Given the description of an element on the screen output the (x, y) to click on. 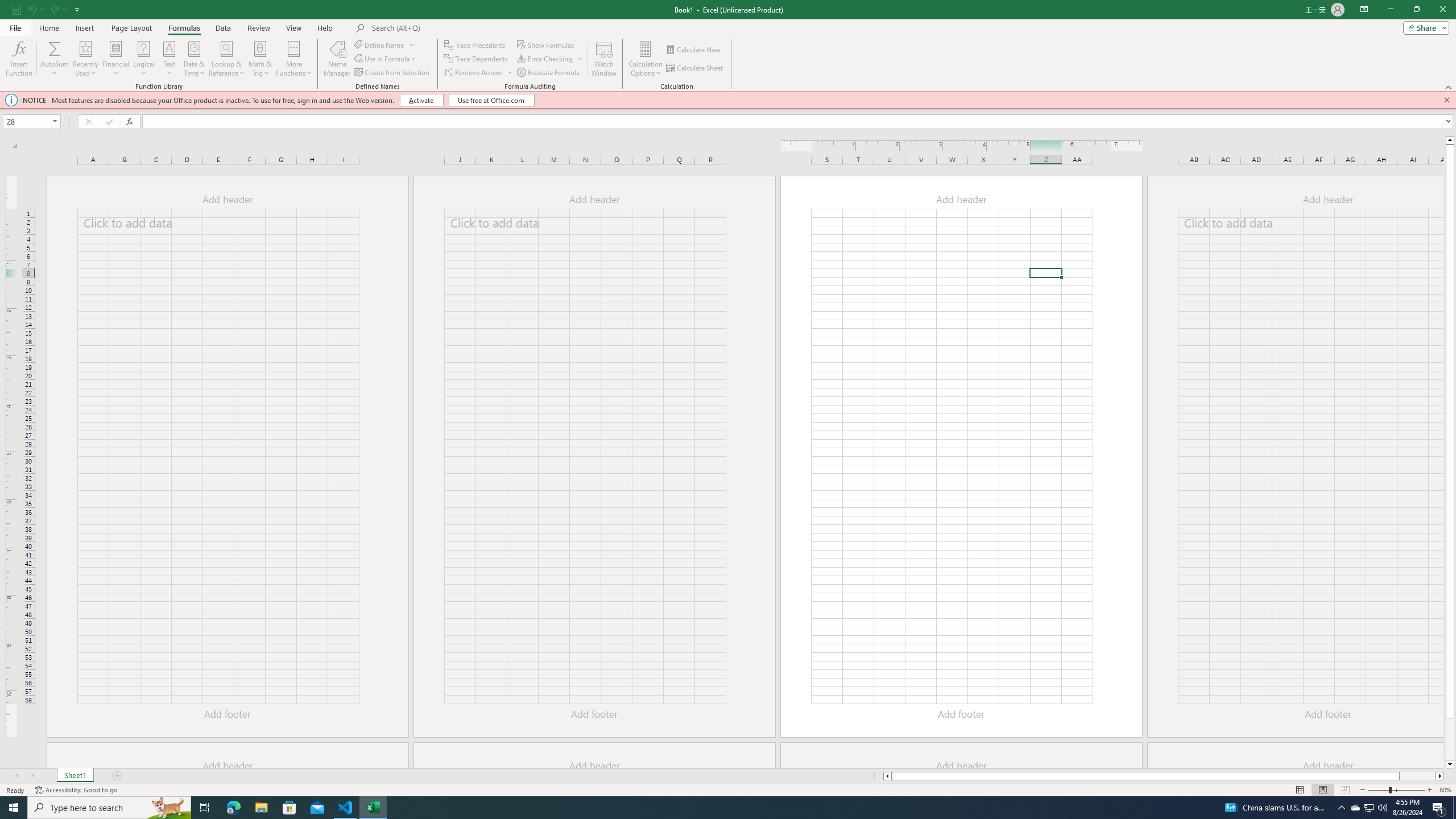
Use free at Office.com (491, 100)
Create from Selection... (392, 72)
Formula Bar (798, 121)
Logical (143, 58)
Error Checking... (550, 58)
Lookup & Reference (227, 58)
Evaluate Formula (549, 72)
